Given the description of an element on the screen output the (x, y) to click on. 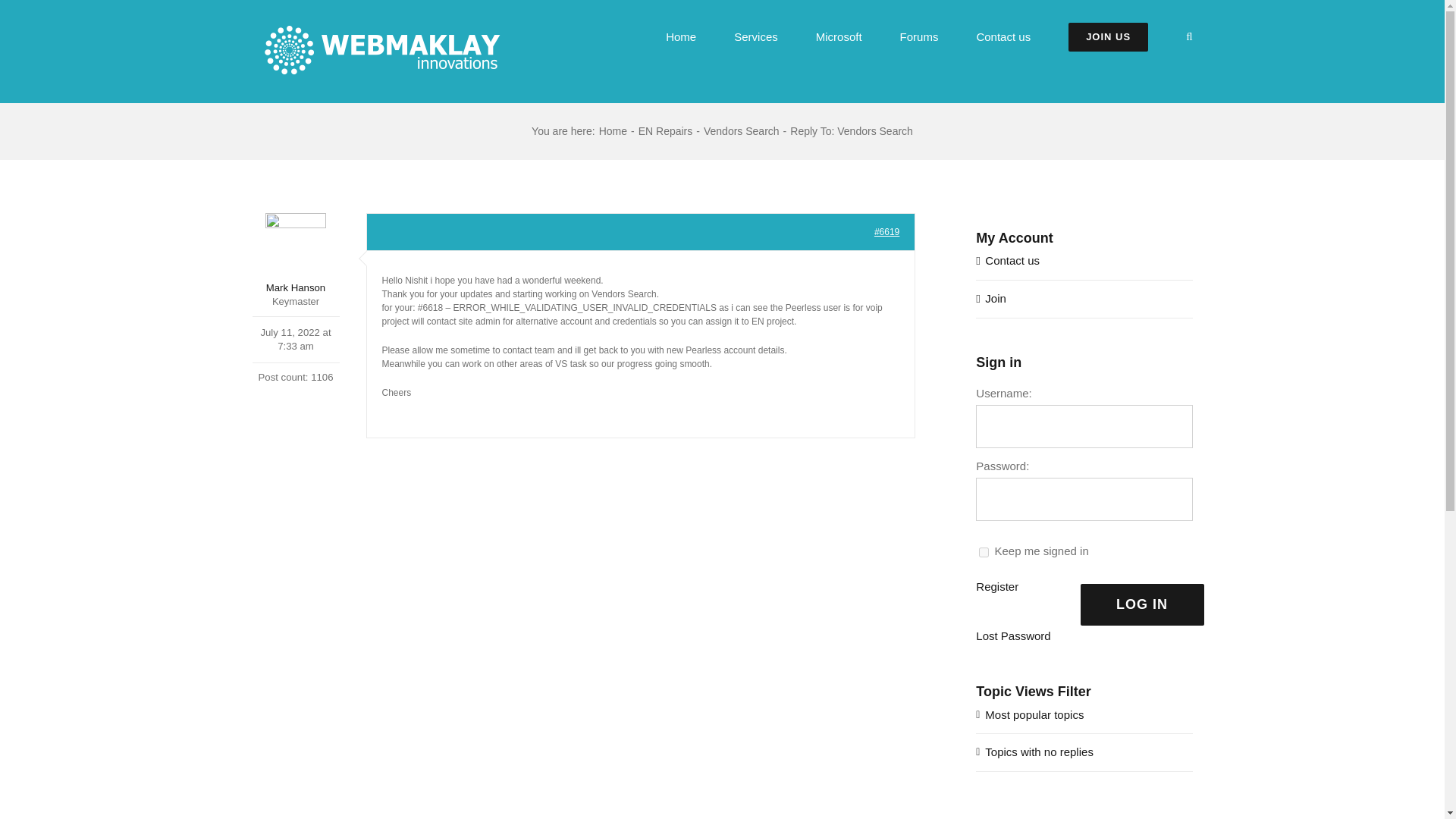
View Mark Hanson's profile (295, 253)
Register (996, 587)
JOIN US (1108, 36)
Lost Password (1012, 636)
